Given the description of an element on the screen output the (x, y) to click on. 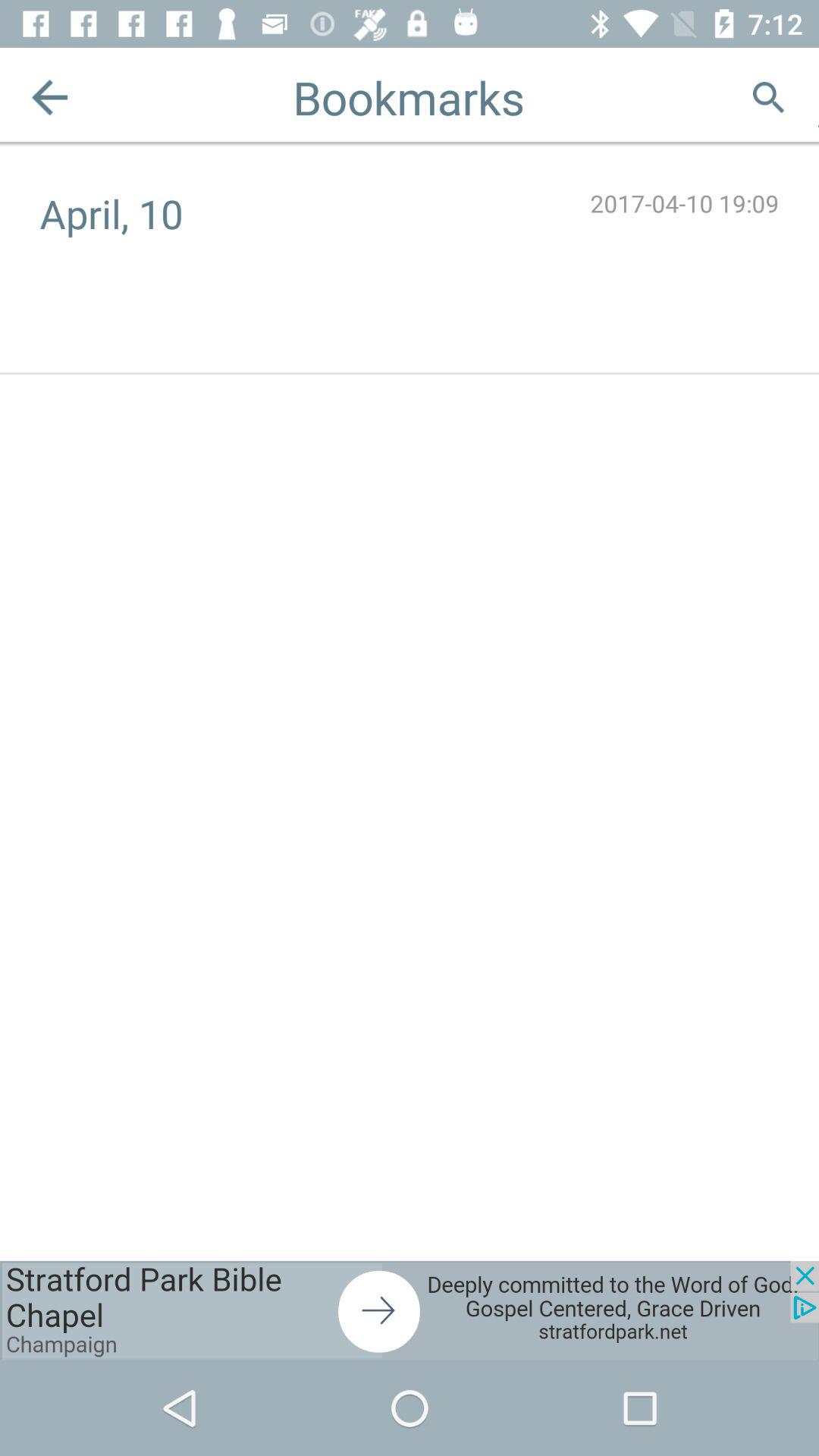
advertisement (409, 1310)
